Given the description of an element on the screen output the (x, y) to click on. 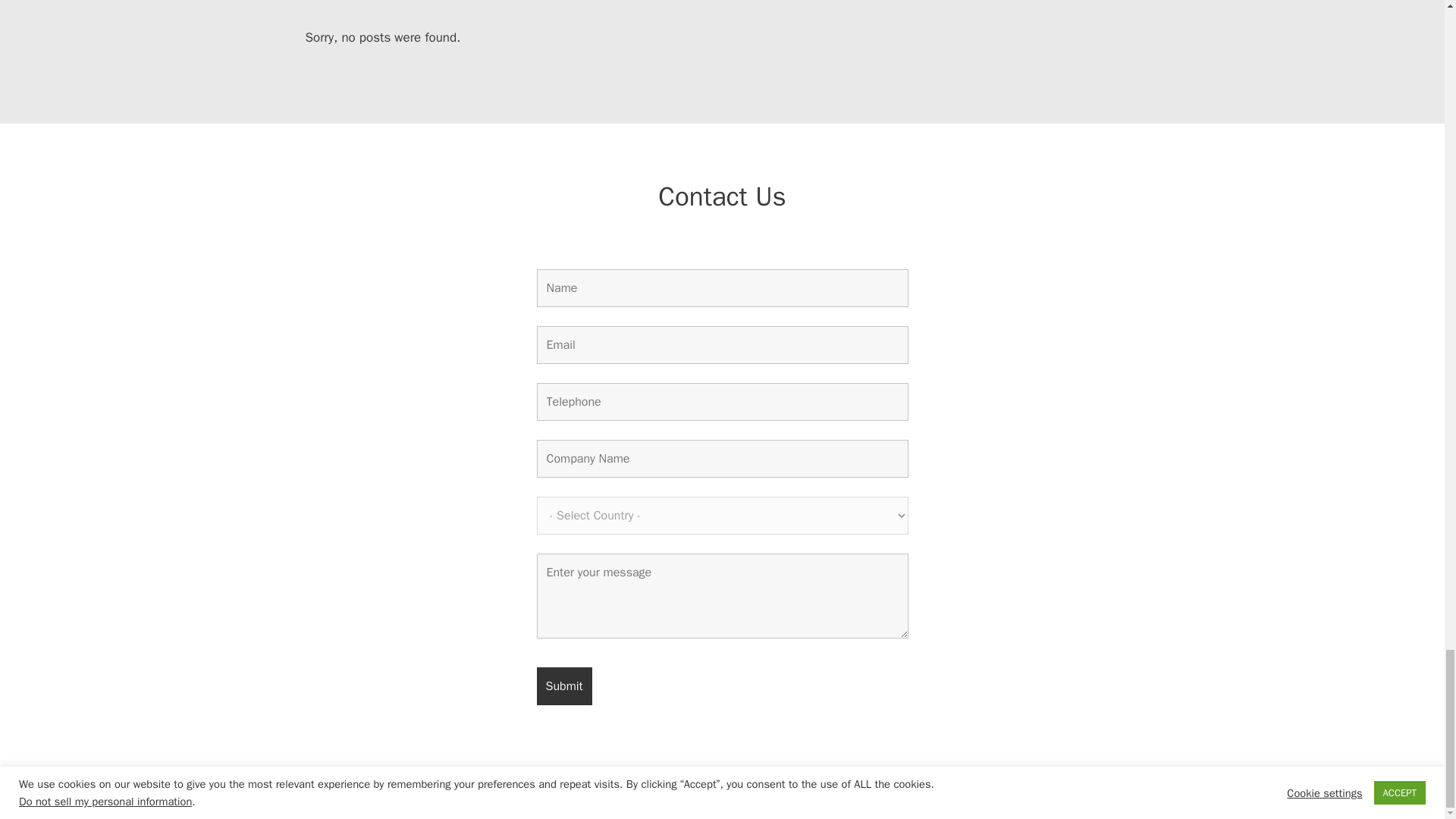
Submit (564, 686)
